Given the description of an element on the screen output the (x, y) to click on. 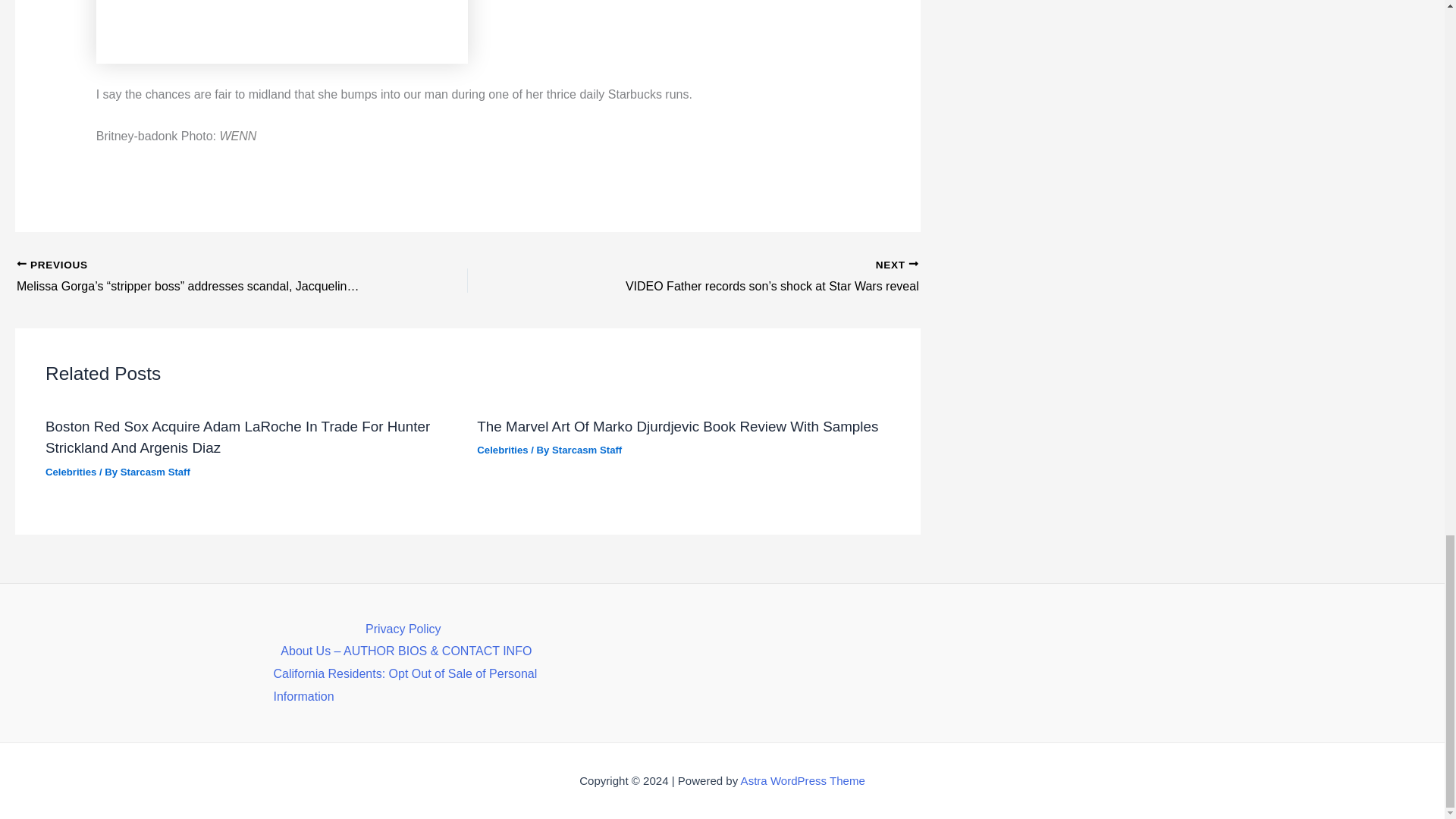
View all posts by Starcasm Staff (155, 471)
View all posts by Starcasm Staff (586, 449)
Britney-Spears-live (281, 31)
VIDEO Father records son's shock at Star Wars reveal (737, 277)
